Given the description of an element on the screen output the (x, y) to click on. 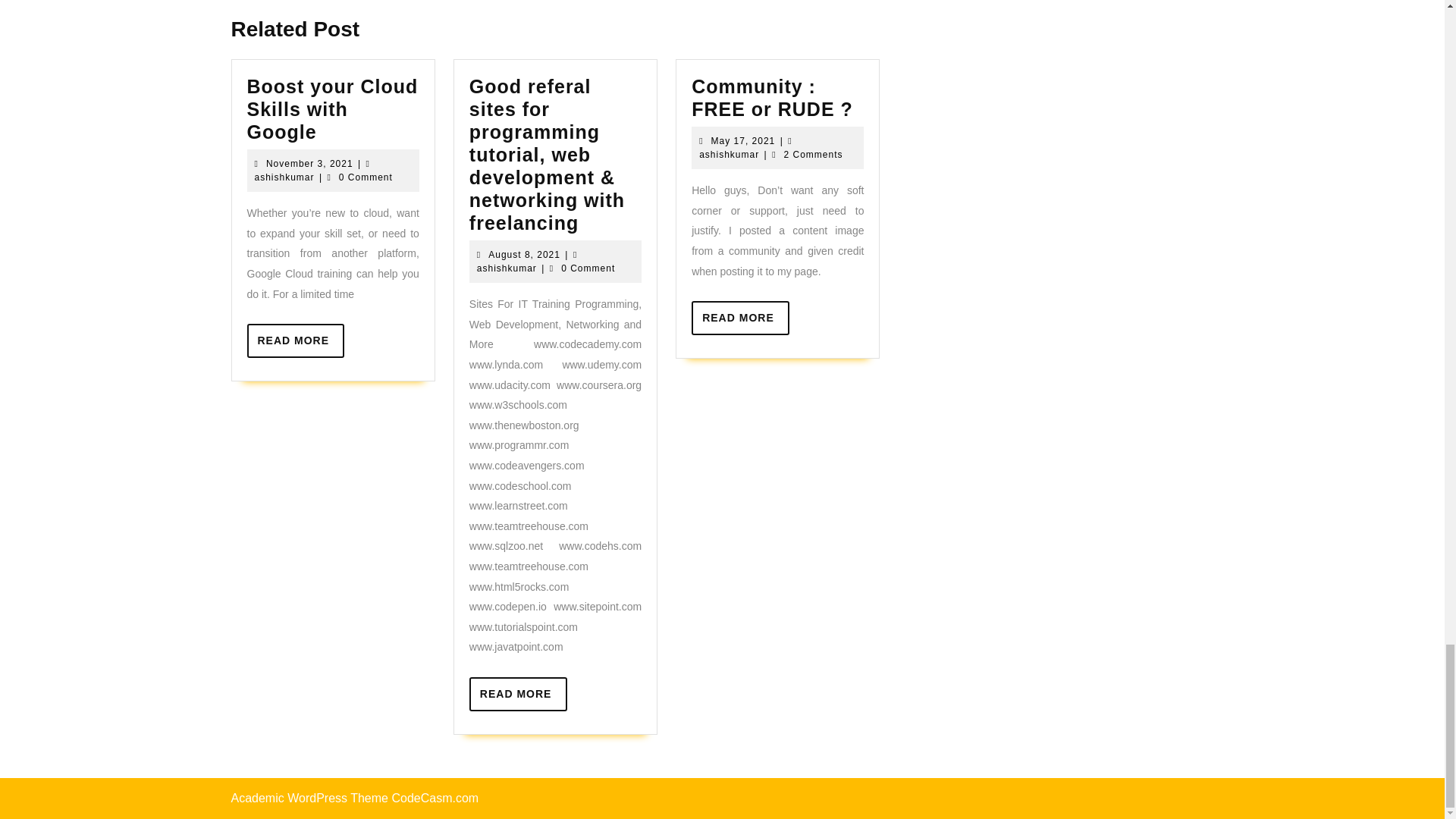
Community : FREE or RUDE ? (392, 6)
Boost your Cloud Skills with Google (716, 6)
